Given the description of an element on the screen output the (x, y) to click on. 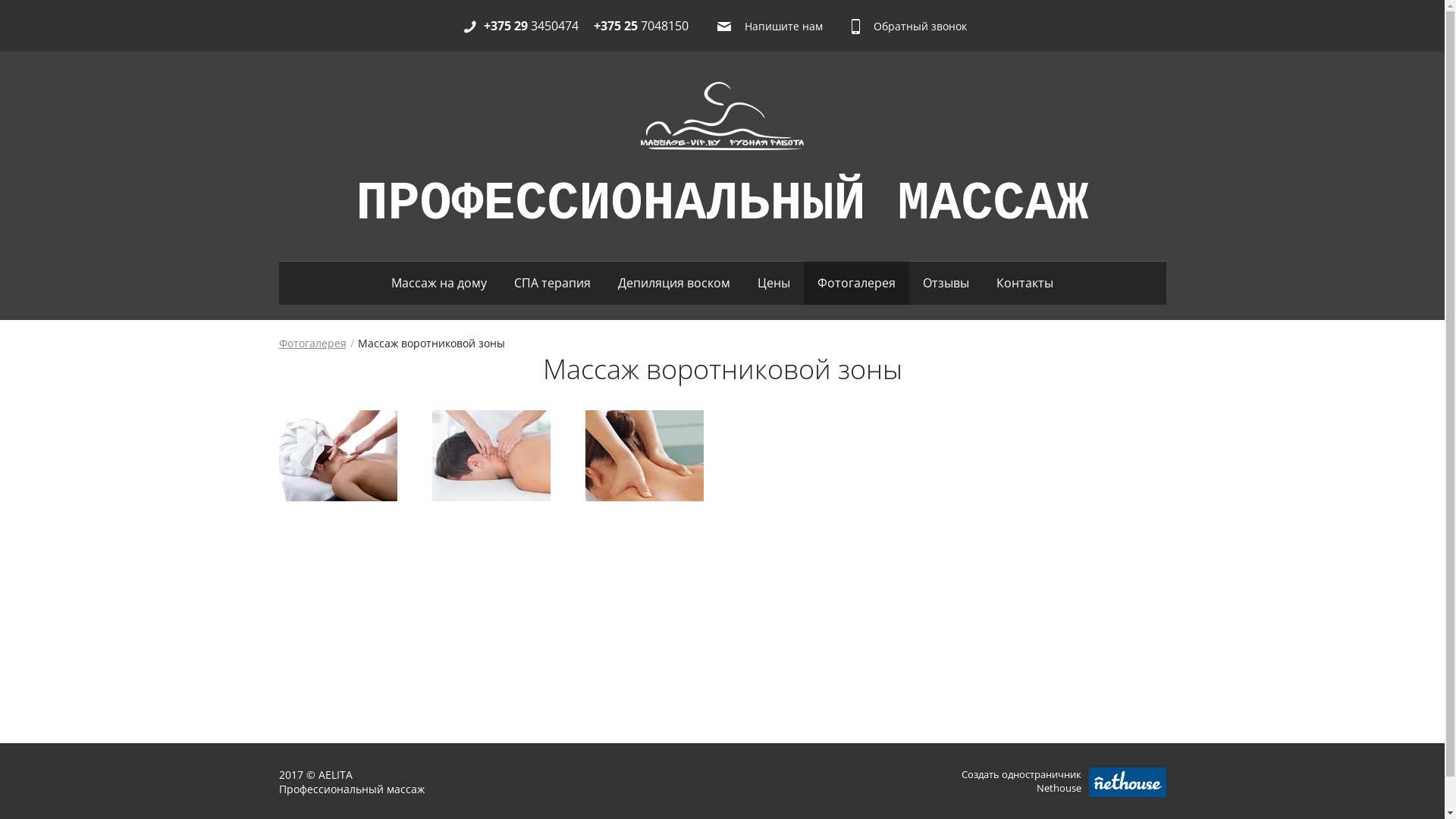
Nethouse.ru Element type: hover (1127, 782)
